Given the description of an element on the screen output the (x, y) to click on. 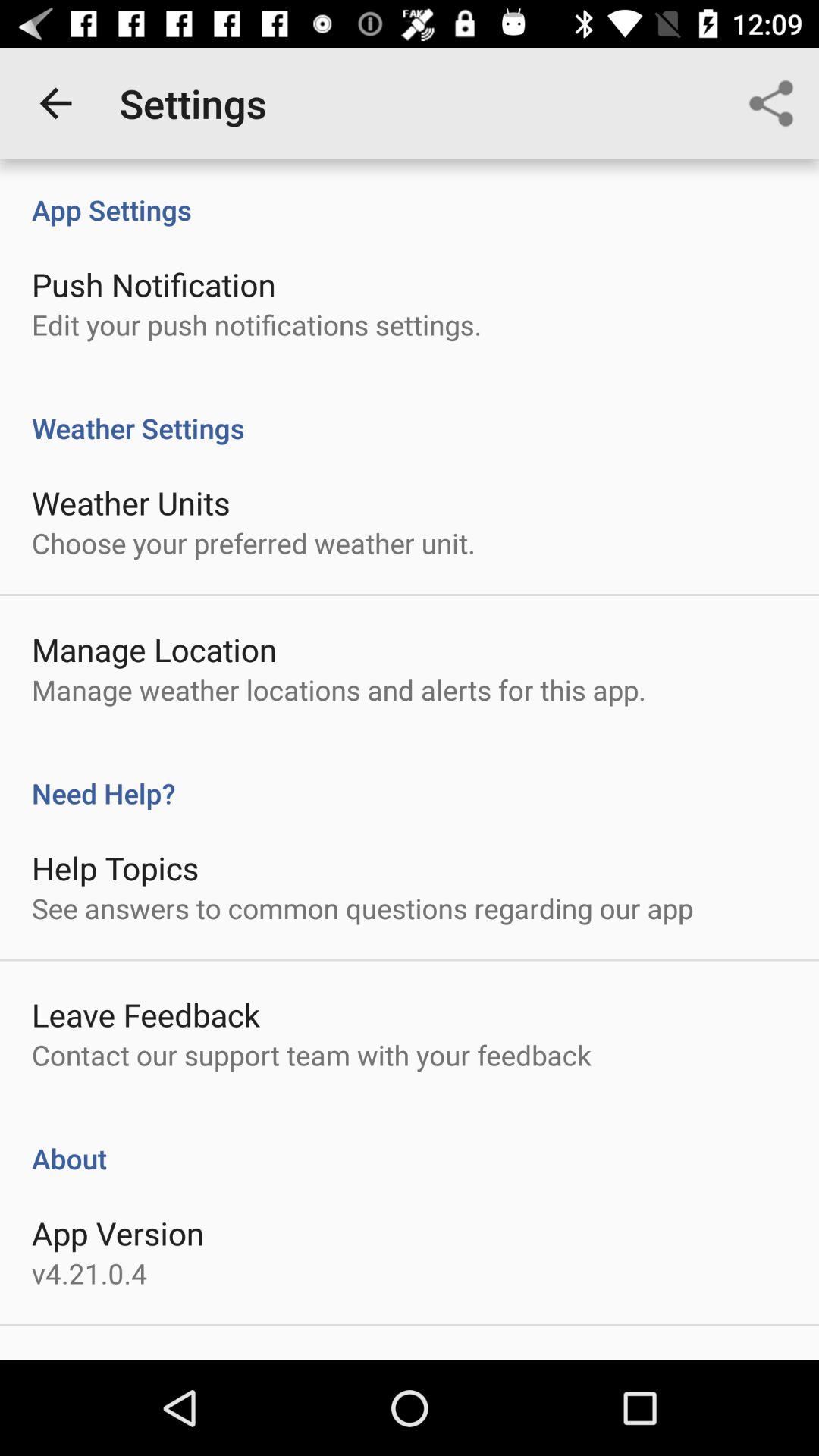
turn on item above the app settings item (55, 103)
